Given the description of an element on the screen output the (x, y) to click on. 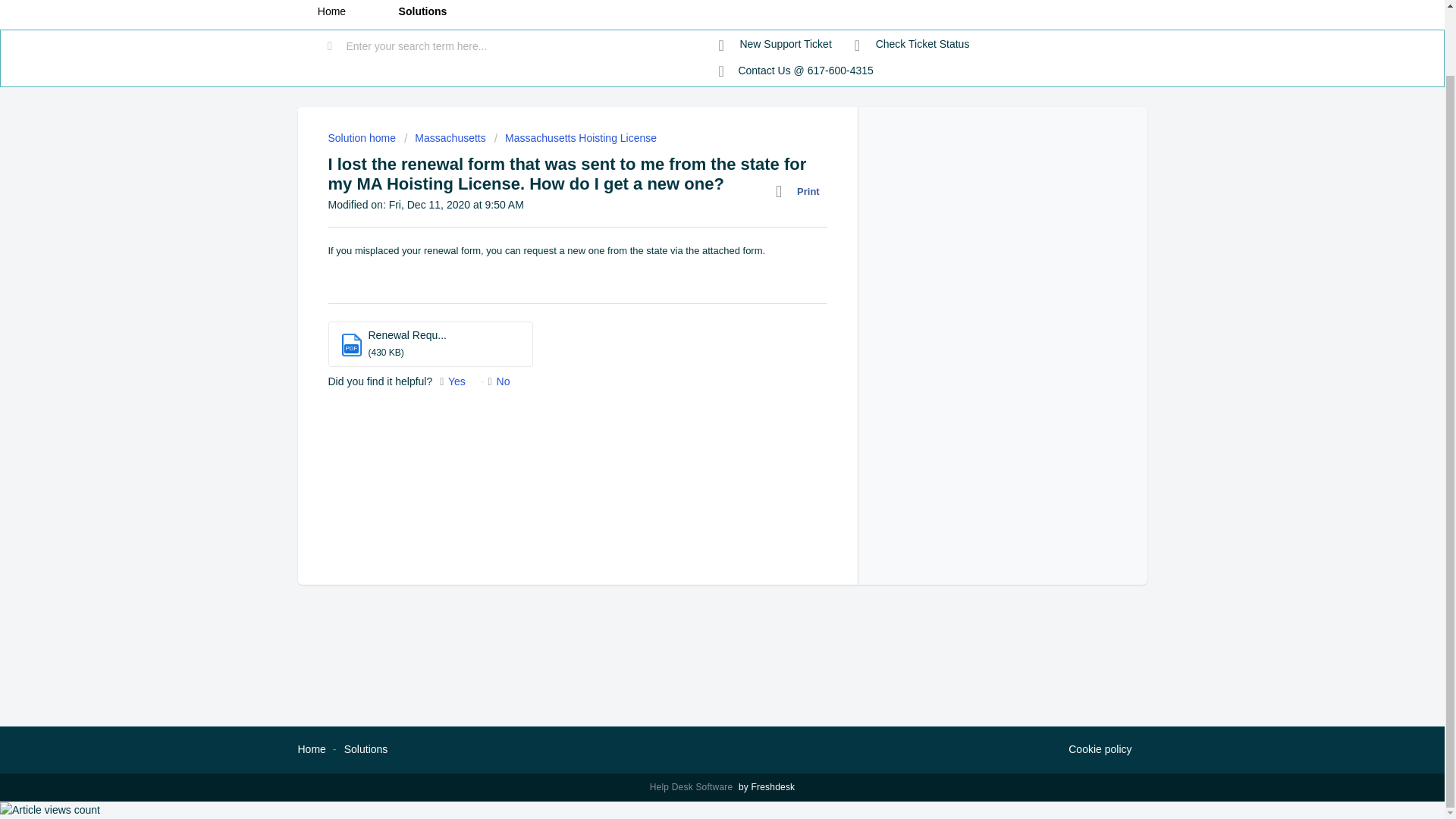
New Support Ticket (775, 44)
Check Ticket Status (911, 44)
Massachusetts (445, 137)
Home (331, 14)
Solutions (365, 748)
Solution home (362, 137)
Help Desk Software (693, 787)
Print this Article (801, 191)
Print (801, 191)
Check ticket status (911, 44)
Massachusetts Hoisting License (575, 137)
Solutions (422, 14)
Cookie policy (1099, 750)
New support ticket (775, 44)
Home (310, 748)
